Given the description of an element on the screen output the (x, y) to click on. 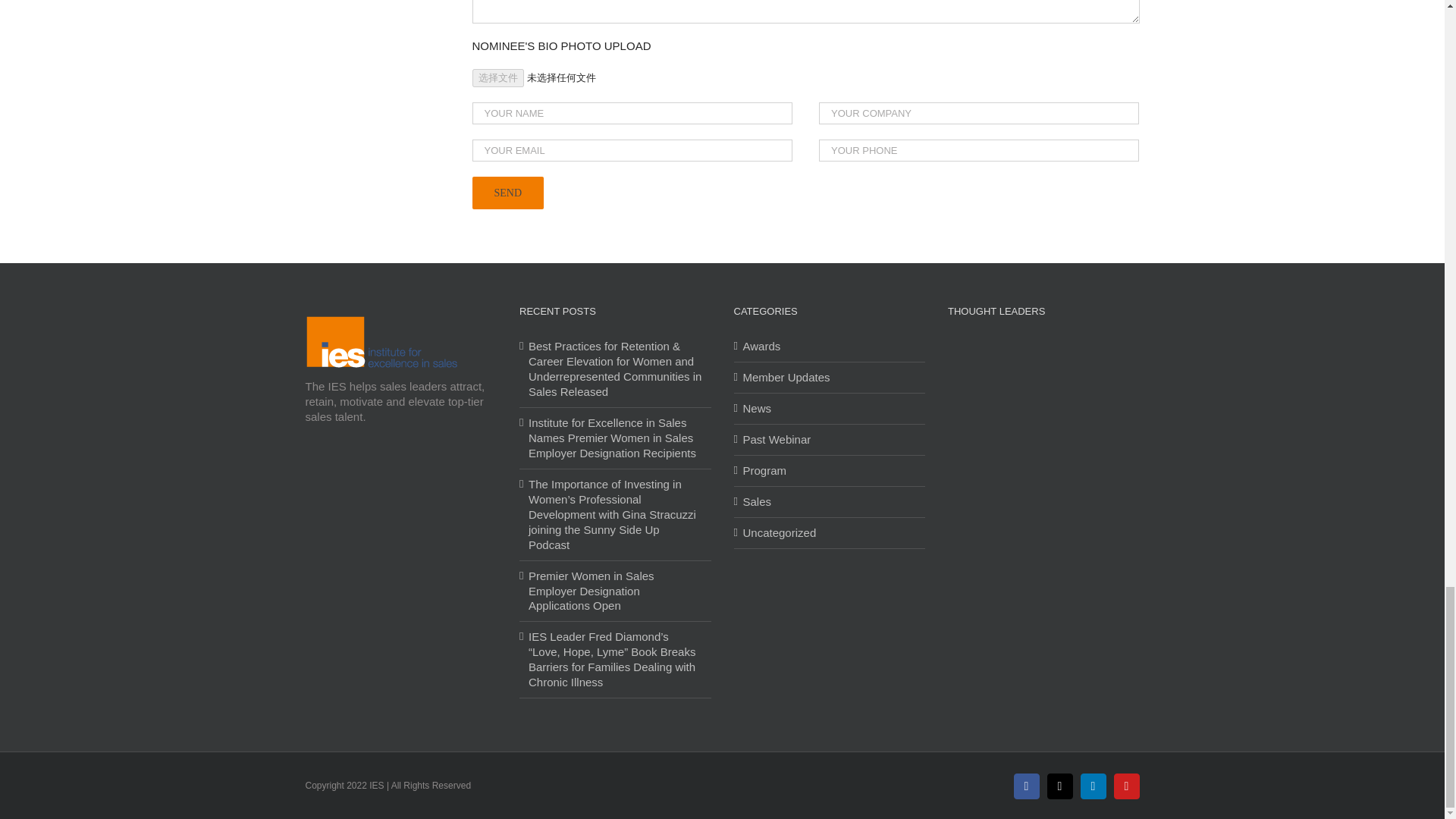
Sam Horn (1067, 505)
Jennifer Chronis (1117, 410)
Alyssa Merwin Henderson (1067, 362)
Vince Burruano (1067, 410)
Joe Ayers (969, 362)
Tien Wong (1018, 410)
Lauryn Scott (1018, 458)
Colleen Francis (1117, 458)
Julie Hansen (1117, 505)
Robert Greene (1117, 362)
